Given the description of an element on the screen output the (x, y) to click on. 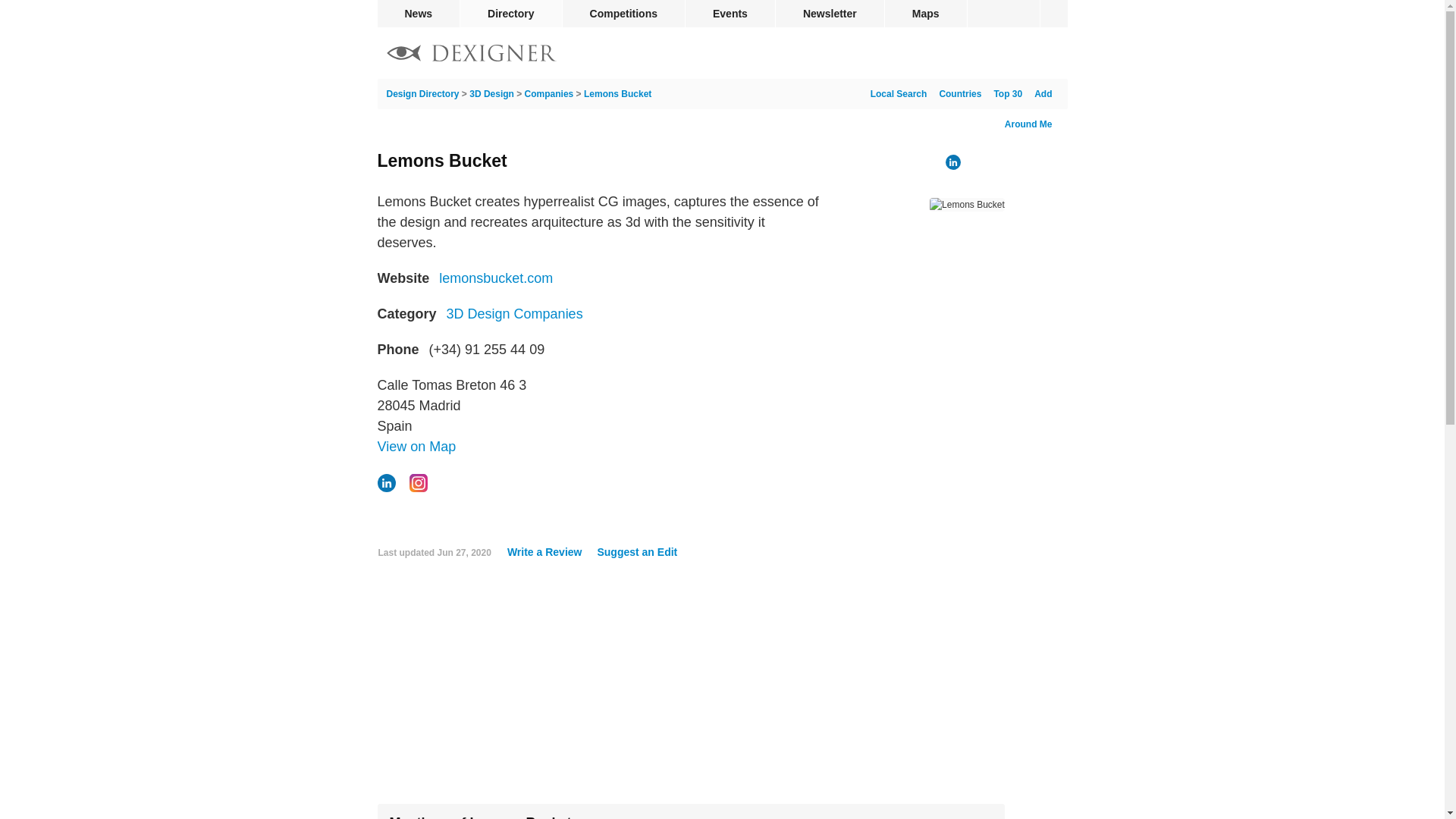
Add (1039, 93)
Top 30 (1004, 93)
follow dexigner (1054, 13)
Maps (925, 13)
Directory (510, 13)
Companies (548, 93)
Newsletter (829, 13)
lemonsbucket.com (496, 278)
Design Directory (471, 54)
Madrid, Spain (417, 446)
